Given the description of an element on the screen output the (x, y) to click on. 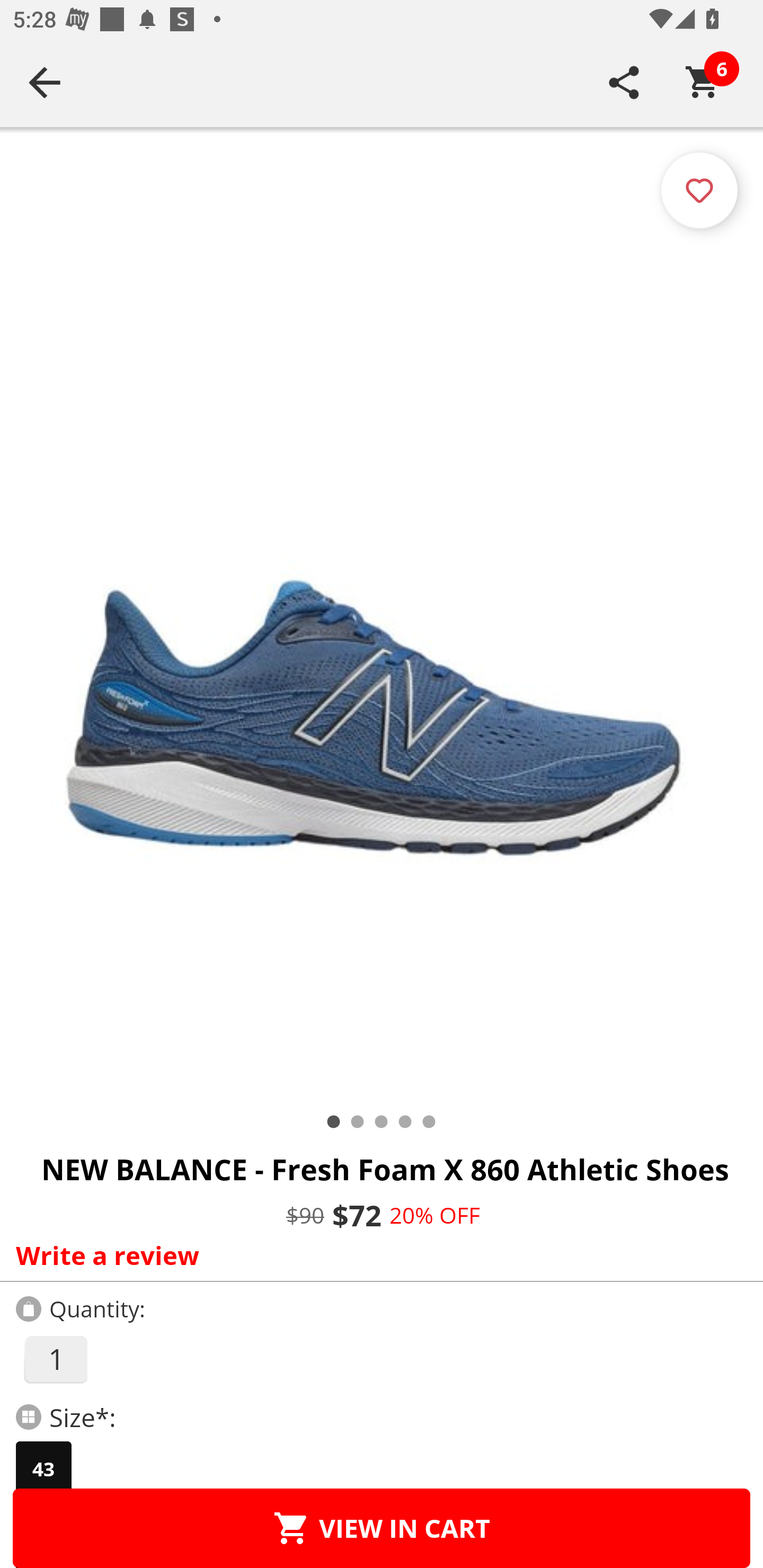
Navigate up (44, 82)
SHARE (623, 82)
Cart (703, 81)
Write a review (377, 1255)
1 (55, 1358)
43 (43, 1468)
VIEW IN CART (381, 1528)
